Given the description of an element on the screen output the (x, y) to click on. 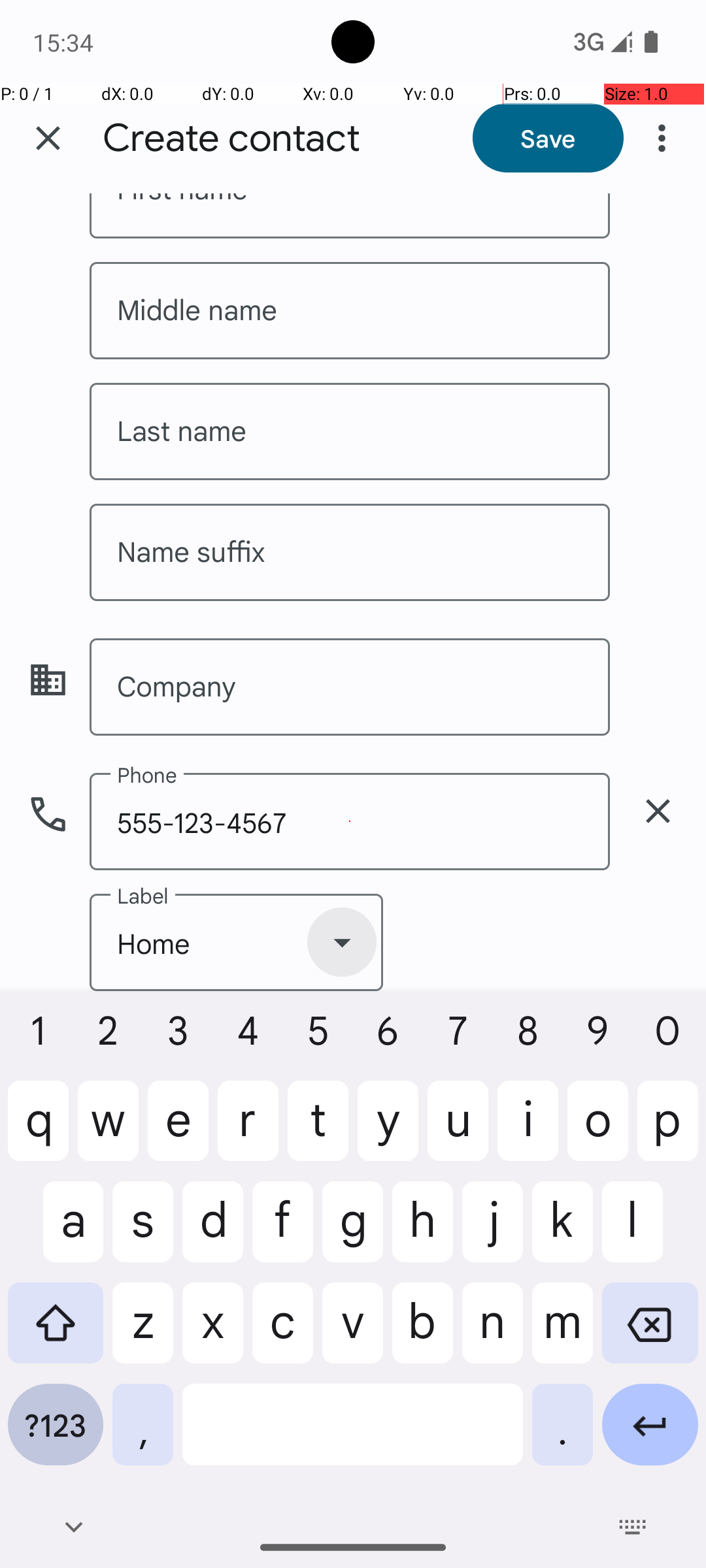
Create contact Element type: android.widget.TextView (231, 138)
Save Element type: android.widget.Button (547, 137)
First name Element type: android.widget.EditText (349, 215)
Middle name Element type: android.widget.EditText (349, 310)
Last name Element type: android.widget.EditText (349, 431)
Name suffix Element type: android.widget.EditText (349, 552)
Company Element type: android.widget.EditText (349, 686)
555-123-4567 Element type: android.widget.EditText (349, 821)
Show dropdown menu Element type: android.widget.ImageButton (341, 941)
Delete Home Phone Element type: android.widget.FrameLayout (657, 811)
delete Element type: android.widget.ImageView (657, 811)
Back Element type: android.widget.ImageView (73, 1526)
Switch input method Element type: android.widget.ImageView (632, 1526)
q Element type: android.widget.FrameLayout (38, 1130)
w Element type: android.widget.FrameLayout (108, 1130)
e Element type: android.widget.FrameLayout (178, 1130)
r Element type: android.widget.FrameLayout (248, 1130)
t Element type: android.widget.FrameLayout (318, 1130)
y Element type: android.widget.FrameLayout (387, 1130)
u Element type: android.widget.FrameLayout (457, 1130)
i Element type: android.widget.FrameLayout (527, 1130)
o Element type: android.widget.FrameLayout (597, 1130)
p Element type: android.widget.FrameLayout (667, 1130)
a Element type: android.widget.FrameLayout (55, 1231)
s Element type: android.widget.FrameLayout (142, 1231)
d Element type: android.widget.FrameLayout (212, 1231)
f Element type: android.widget.FrameLayout (282, 1231)
g Element type: android.widget.FrameLayout (352, 1231)
h Element type: android.widget.FrameLayout (422, 1231)
j Element type: android.widget.FrameLayout (492, 1231)
k Element type: android.widget.FrameLayout (562, 1231)
l Element type: android.widget.FrameLayout (649, 1231)
Shift Element type: android.widget.FrameLayout (55, 1332)
z Element type: android.widget.FrameLayout (142, 1332)
x Element type: android.widget.FrameLayout (212, 1332)
c Element type: android.widget.FrameLayout (282, 1332)
v Element type: android.widget.FrameLayout (352, 1332)
b Element type: android.widget.FrameLayout (422, 1332)
n Element type: android.widget.FrameLayout (492, 1332)
m Element type: android.widget.FrameLayout (562, 1332)
Symbol keyboard Element type: android.widget.FrameLayout (55, 1434)
, Element type: android.widget.FrameLayout (142, 1434)
Space Element type: android.widget.FrameLayout (352, 1434)
. Element type: android.widget.FrameLayout (562, 1434)
Enter Element type: android.widget.FrameLayout (649, 1434)
